Given the description of an element on the screen output the (x, y) to click on. 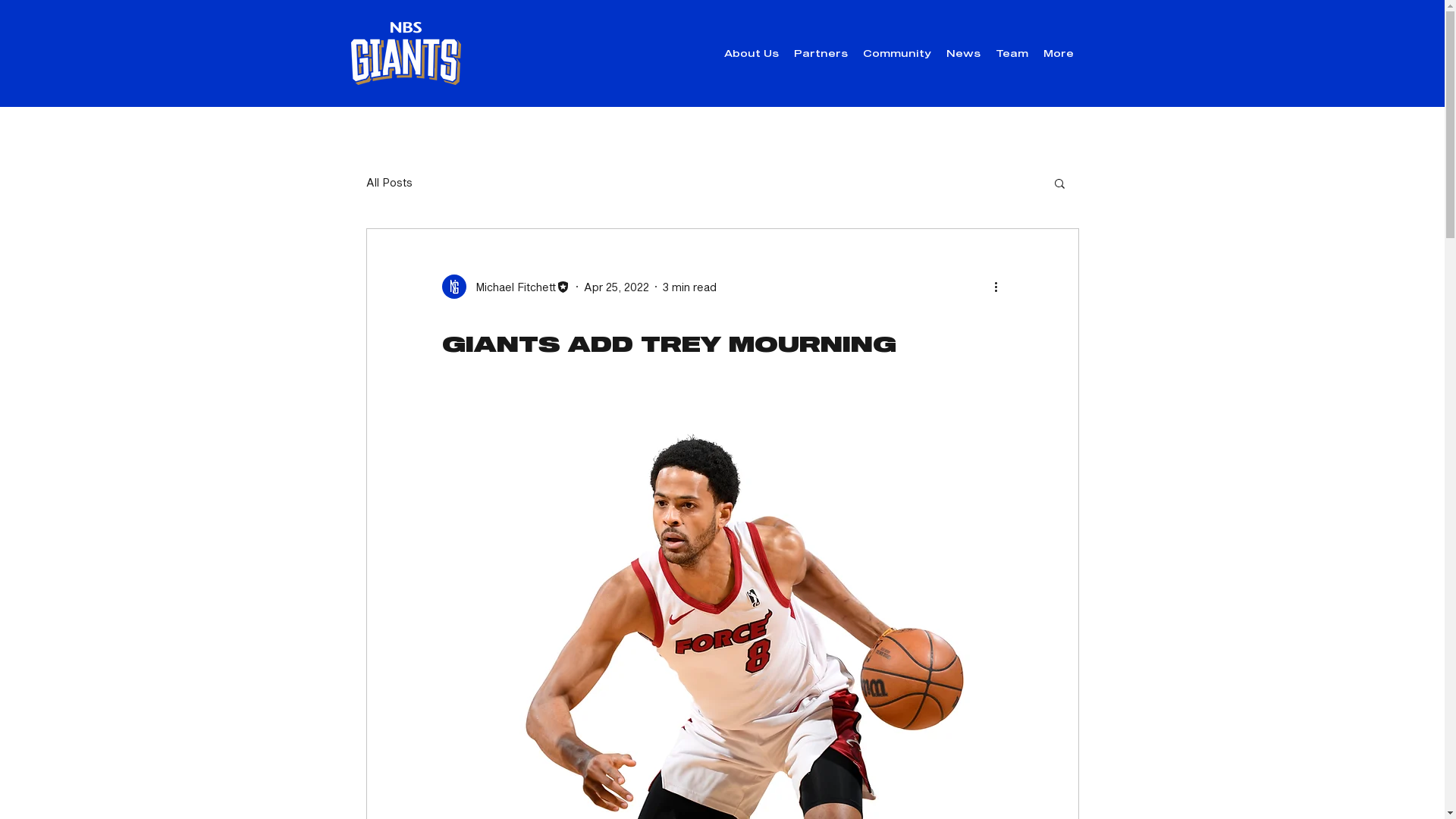
News Element type: text (963, 52)
Michael Fitchett Element type: text (505, 286)
About Us Element type: text (750, 52)
Community Element type: text (896, 52)
Team Element type: text (1011, 52)
Partners Element type: text (819, 52)
All Posts Element type: text (388, 182)
